Given the description of an element on the screen output the (x, y) to click on. 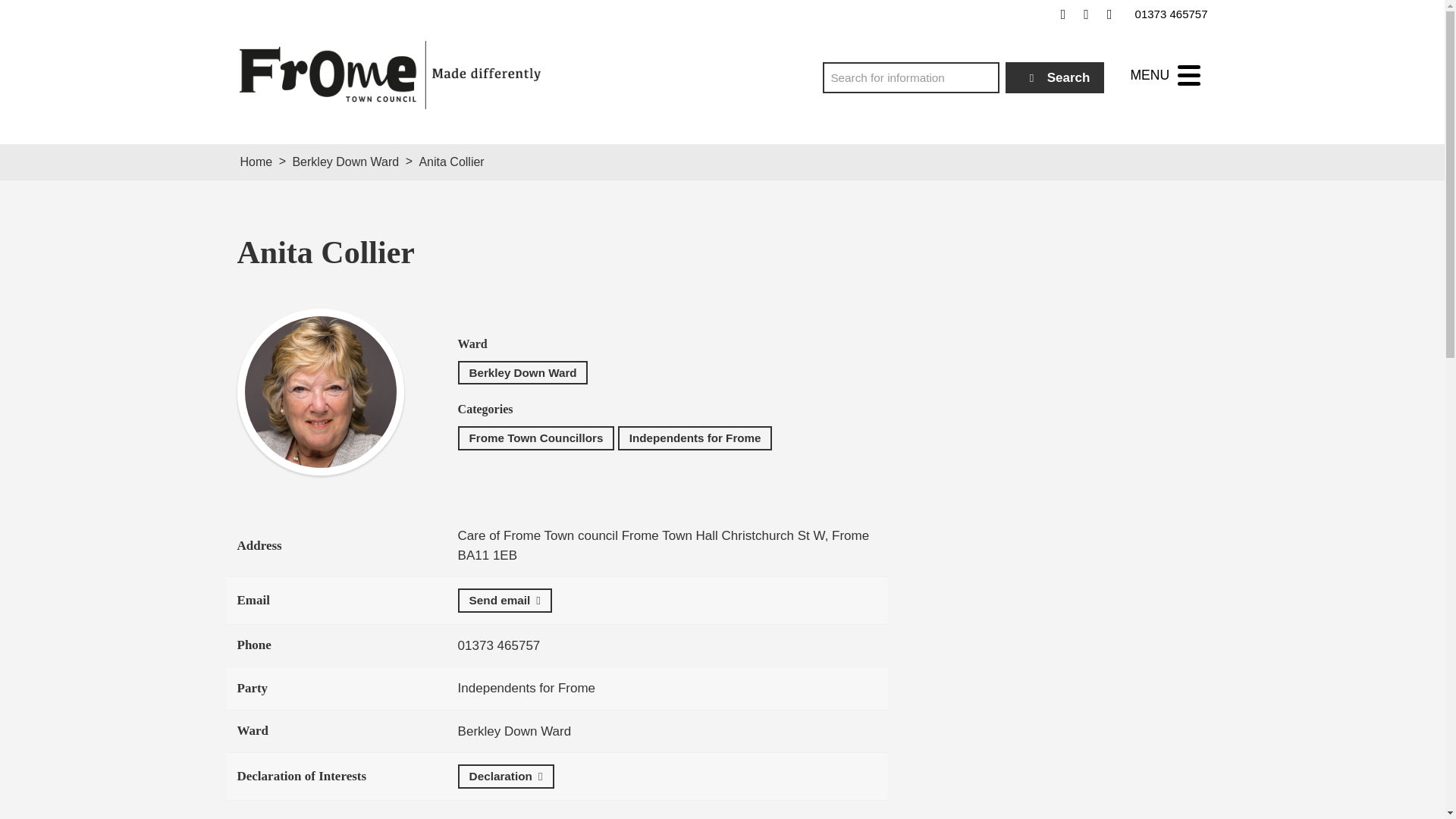
MENU (1164, 75)
Frome Town Council's Twitter (1085, 13)
Frome Town Council's Instagram (1109, 13)
Search (1055, 77)
Go to the Berkley Down Ward Councillor Ward archives. (345, 161)
Frome Town Council's Facebook (1063, 13)
Go to Home. (256, 161)
